Given the description of an element on the screen output the (x, y) to click on. 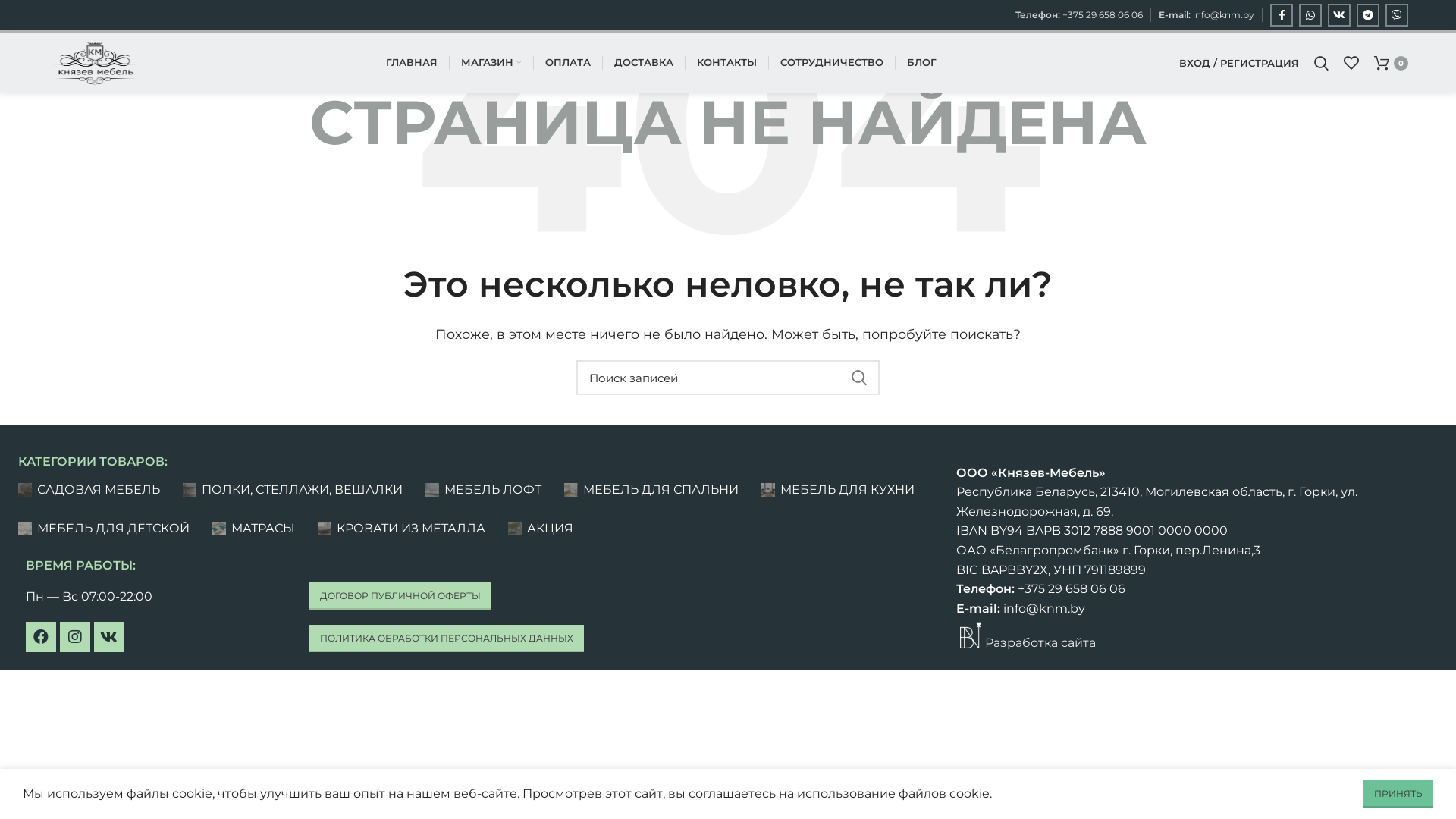
+375 29 658 06 06 Element type: text (1102, 14)
0 Element type: text (1390, 62)
+375 29 658 06 06 Element type: text (1069, 588)
info@knm.by Element type: text (1223, 14)
info@knm.by Element type: text (1041, 608)
